Given the description of an element on the screen output the (x, y) to click on. 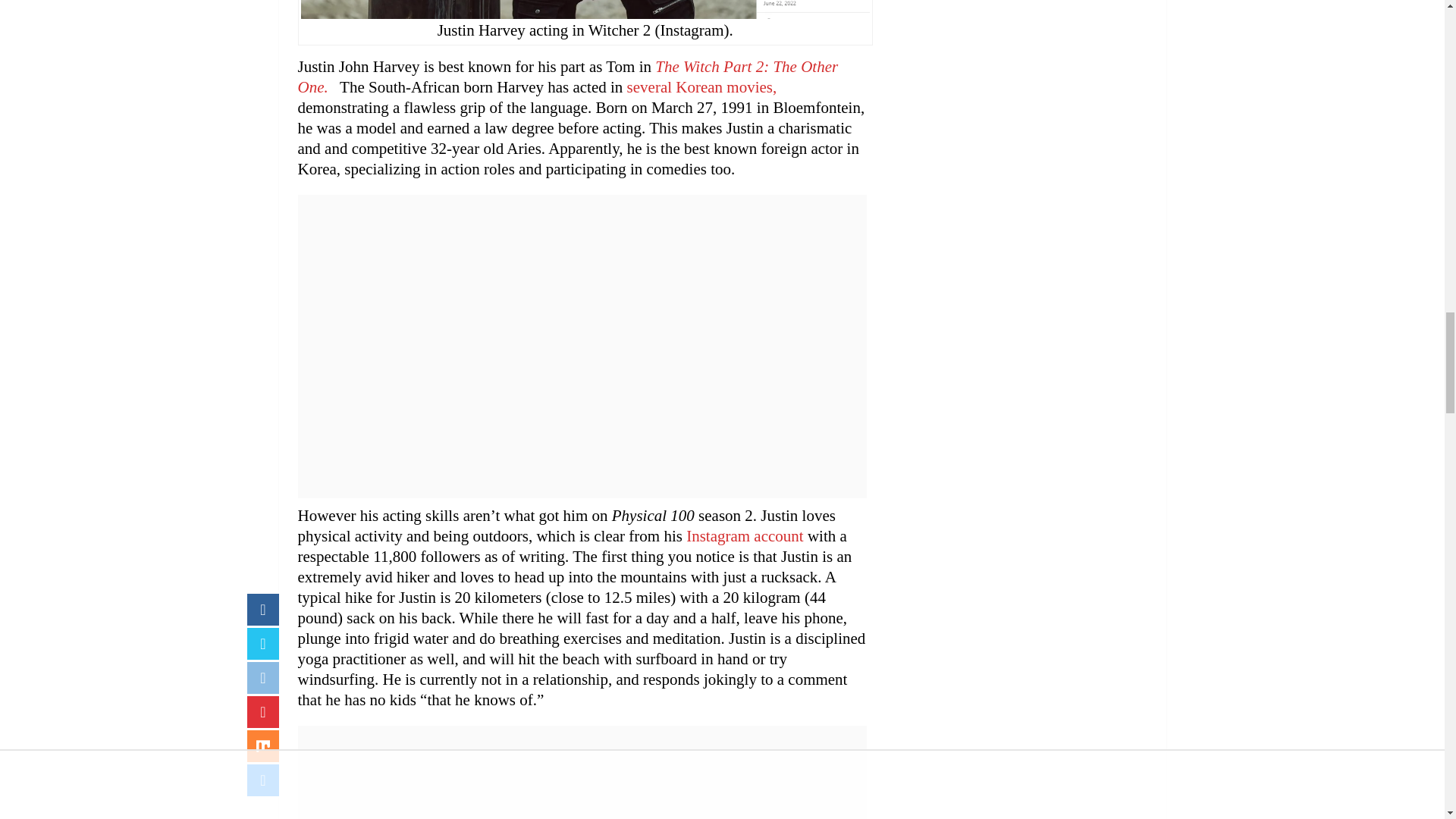
several Korean movies, (702, 86)
The Witch Part 2: The Other One.   (567, 76)
Instagram account (744, 536)
